Given the description of an element on the screen output the (x, y) to click on. 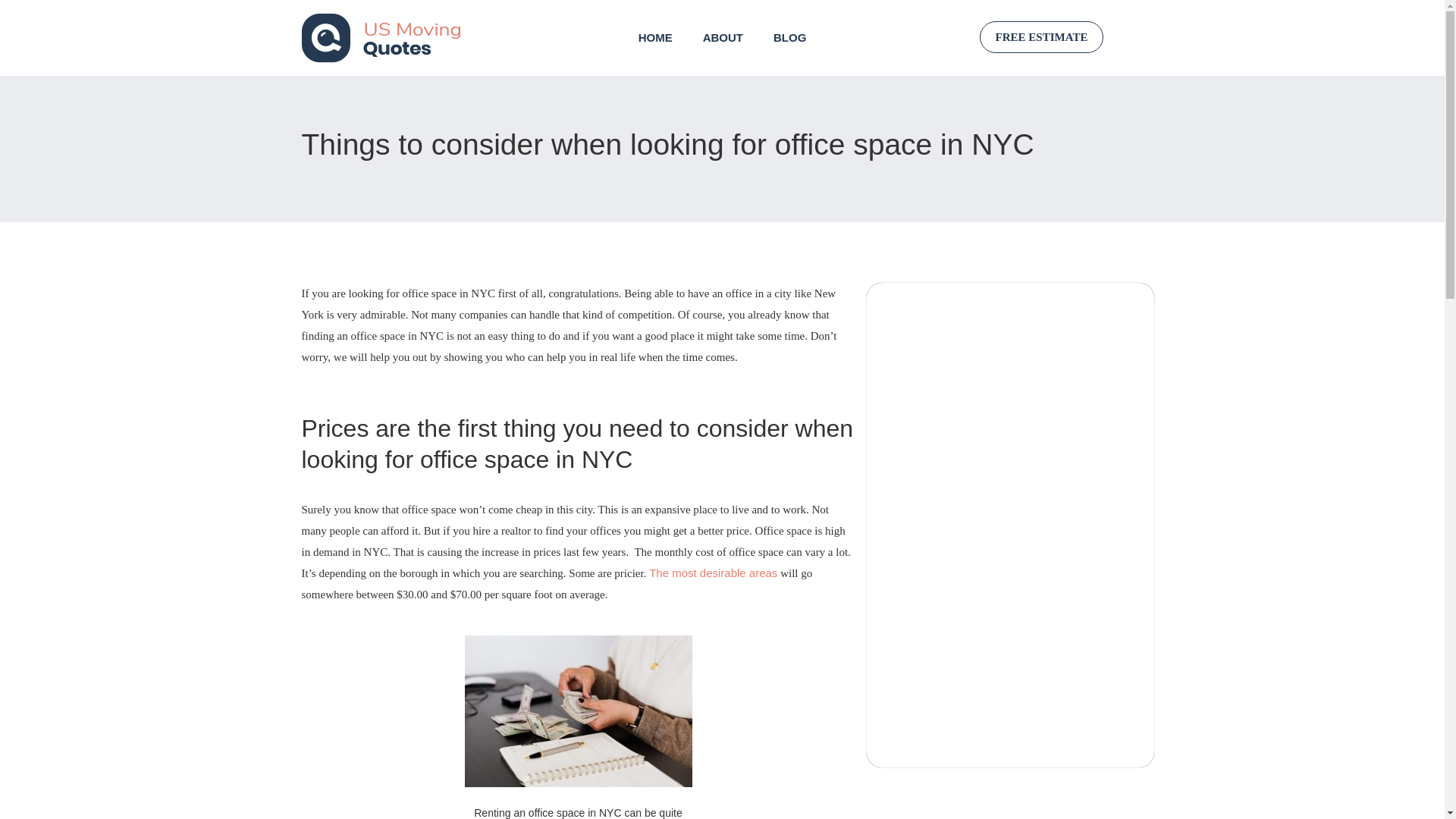
FREE ESTIMATE (1041, 37)
BLOG (789, 37)
HOME (655, 37)
GET QUOTE (991, 745)
The most desirable areas (713, 572)
ABOUT (722, 37)
